Given the description of an element on the screen output the (x, y) to click on. 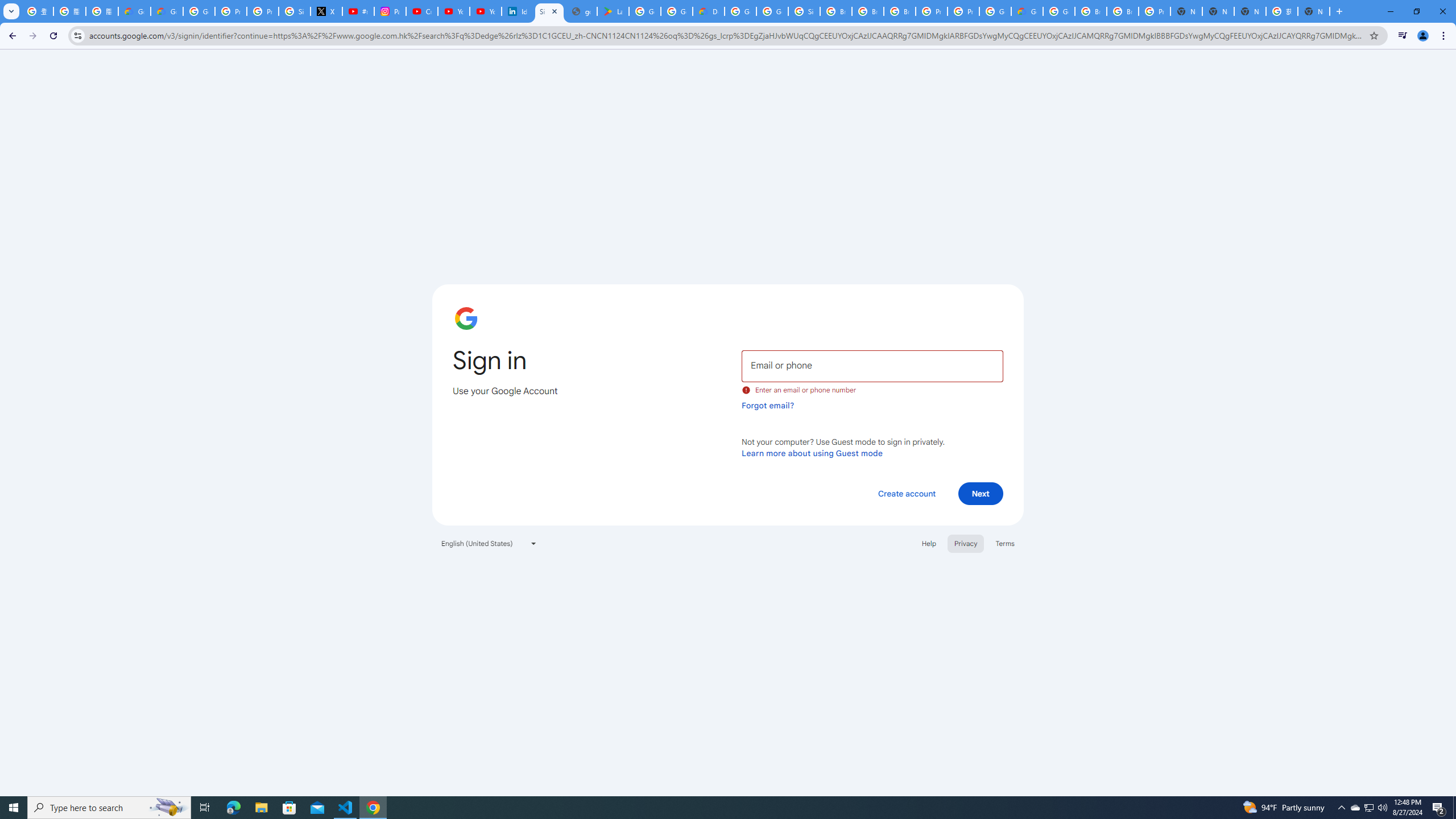
Google Cloud Platform (740, 11)
Browse Chrome as a guest - Computer - Google Chrome Help (868, 11)
Learn more about using Guest mode (812, 452)
Sign in - Google Accounts (294, 11)
#nbabasketballhighlights - YouTube (358, 11)
Forgot email? (767, 404)
Google Cloud Privacy Notice (134, 11)
English (United States) (489, 542)
